Given the description of an element on the screen output the (x, y) to click on. 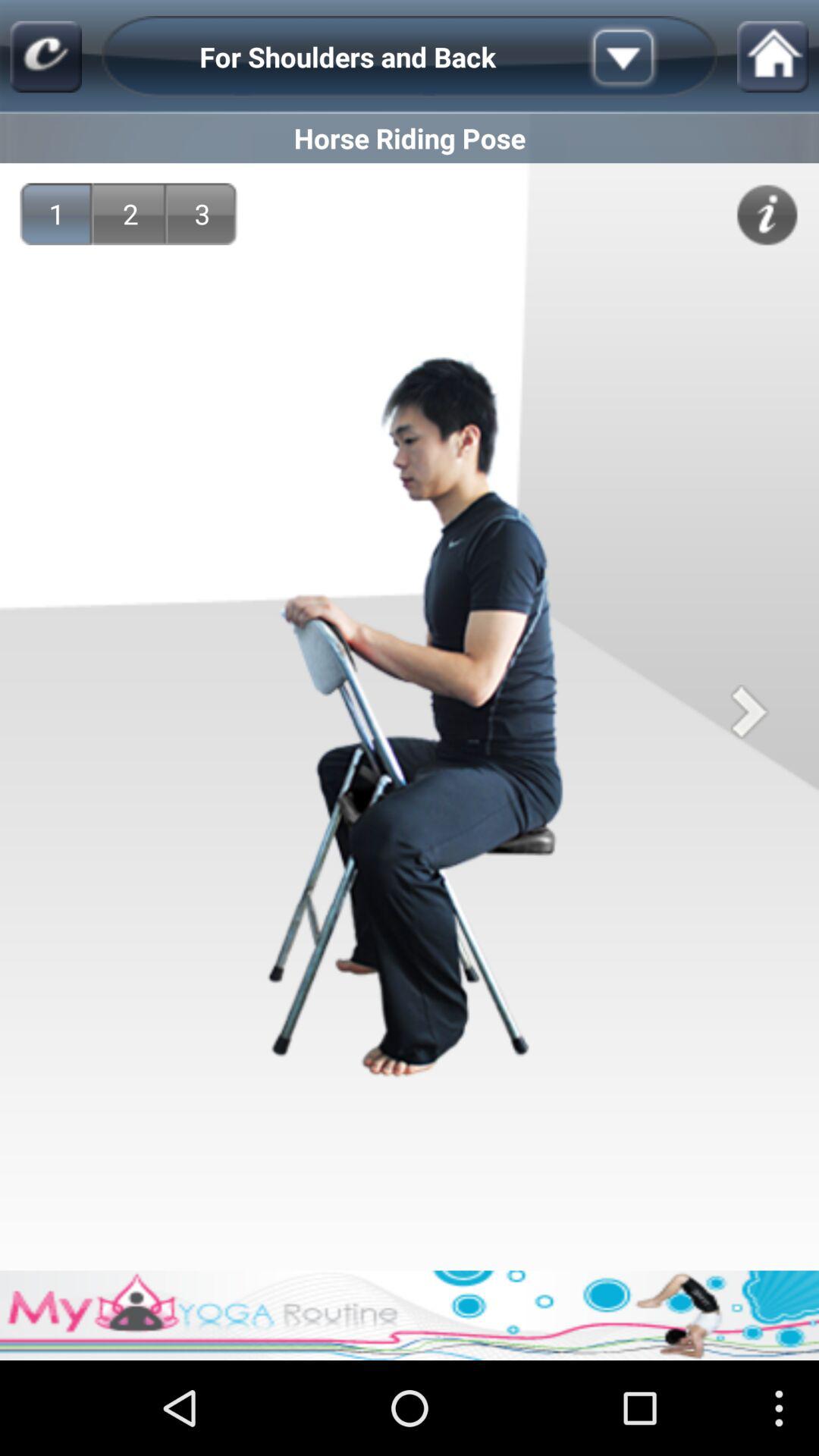
swipe to 2 app (130, 214)
